Given the description of an element on the screen output the (x, y) to click on. 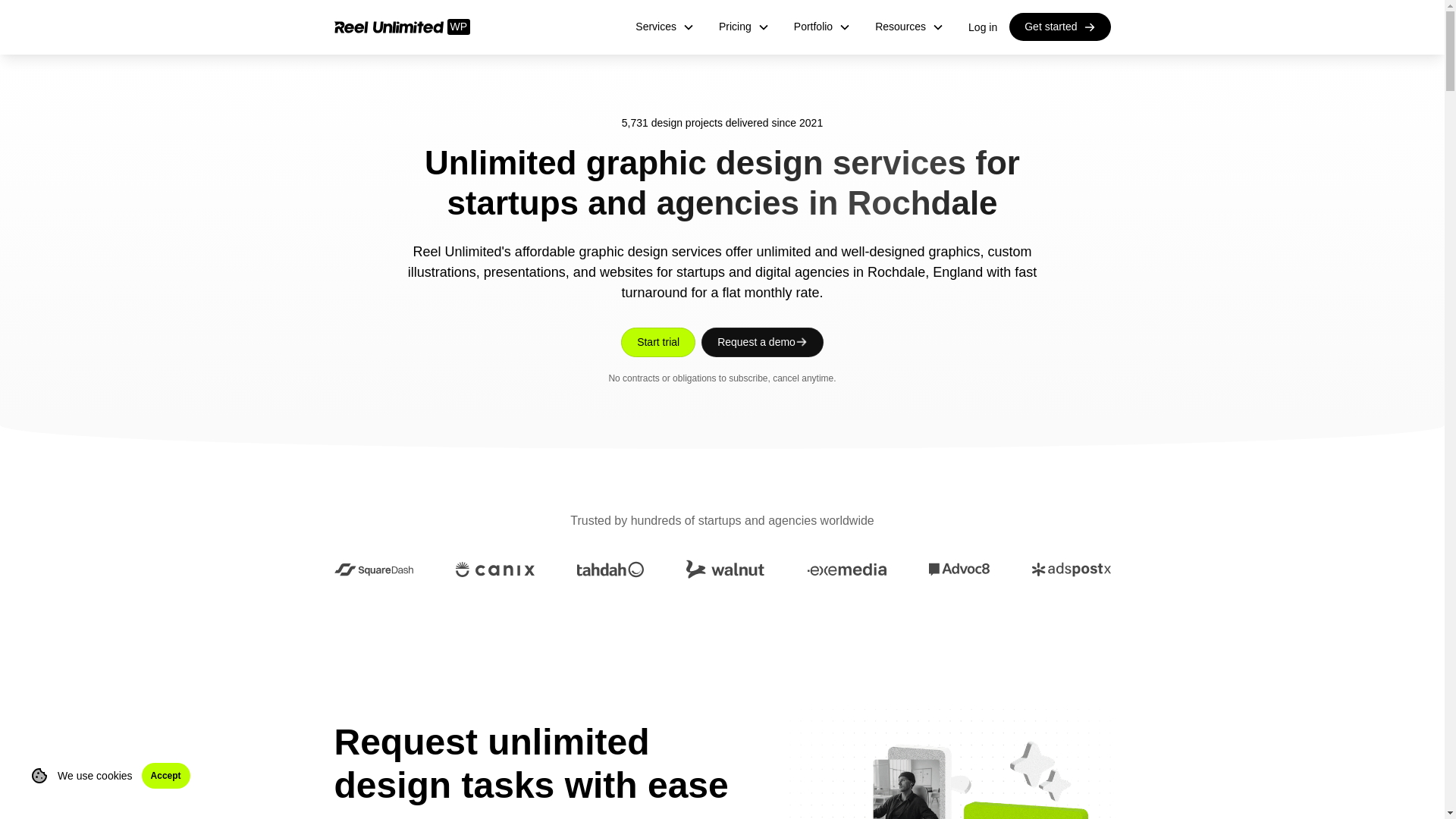
Get started (1059, 26)
Start trial (658, 342)
Request a demo (762, 342)
Log in (982, 26)
